Given the description of an element on the screen output the (x, y) to click on. 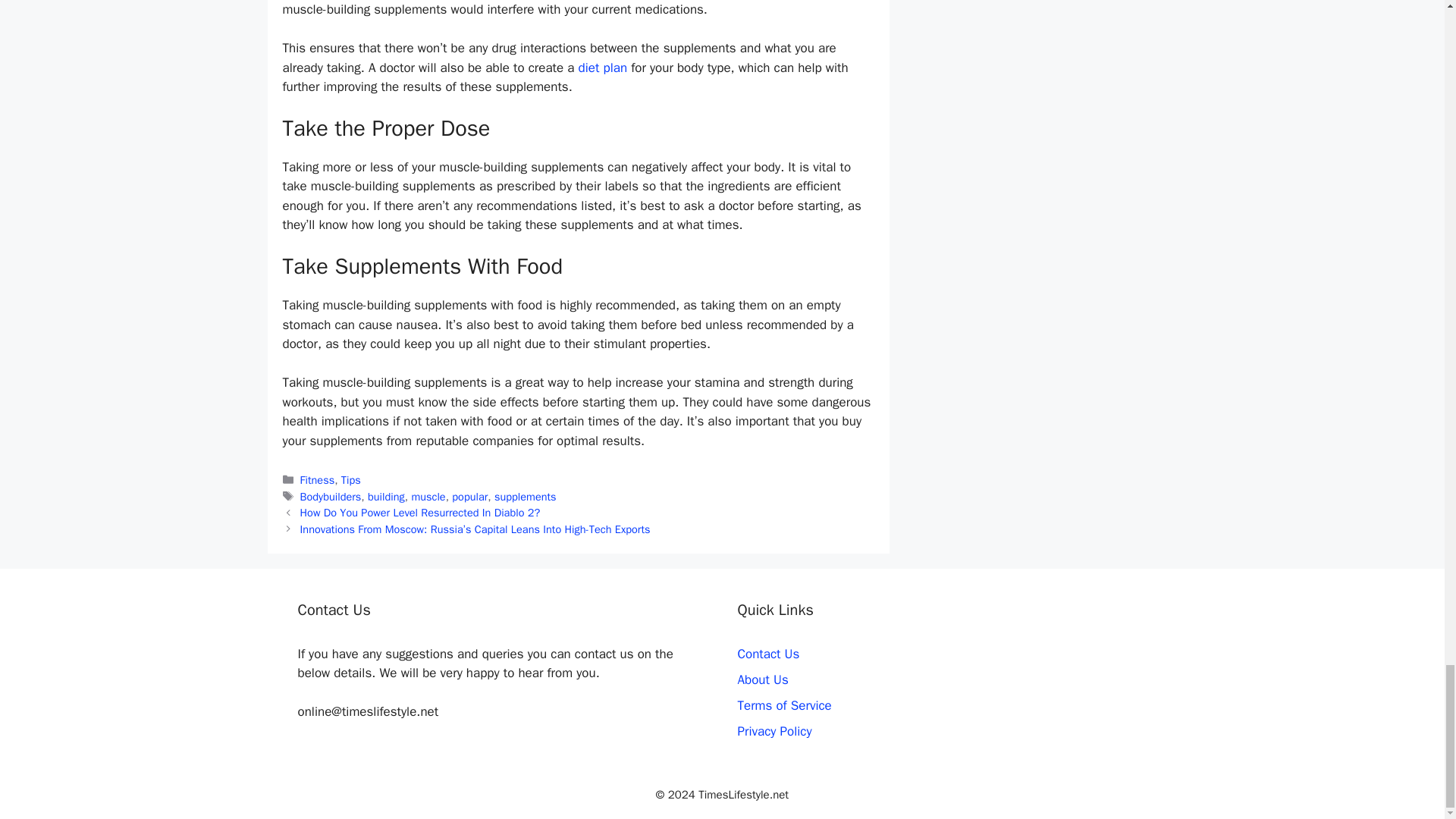
How Do You Power Level Resurrected In Diablo 2? (419, 512)
diet plan (602, 67)
Bodybuilders (330, 496)
building (386, 496)
Fitness (316, 479)
supplements (525, 496)
muscle (427, 496)
Tips (350, 479)
popular (469, 496)
